Given the description of an element on the screen output the (x, y) to click on. 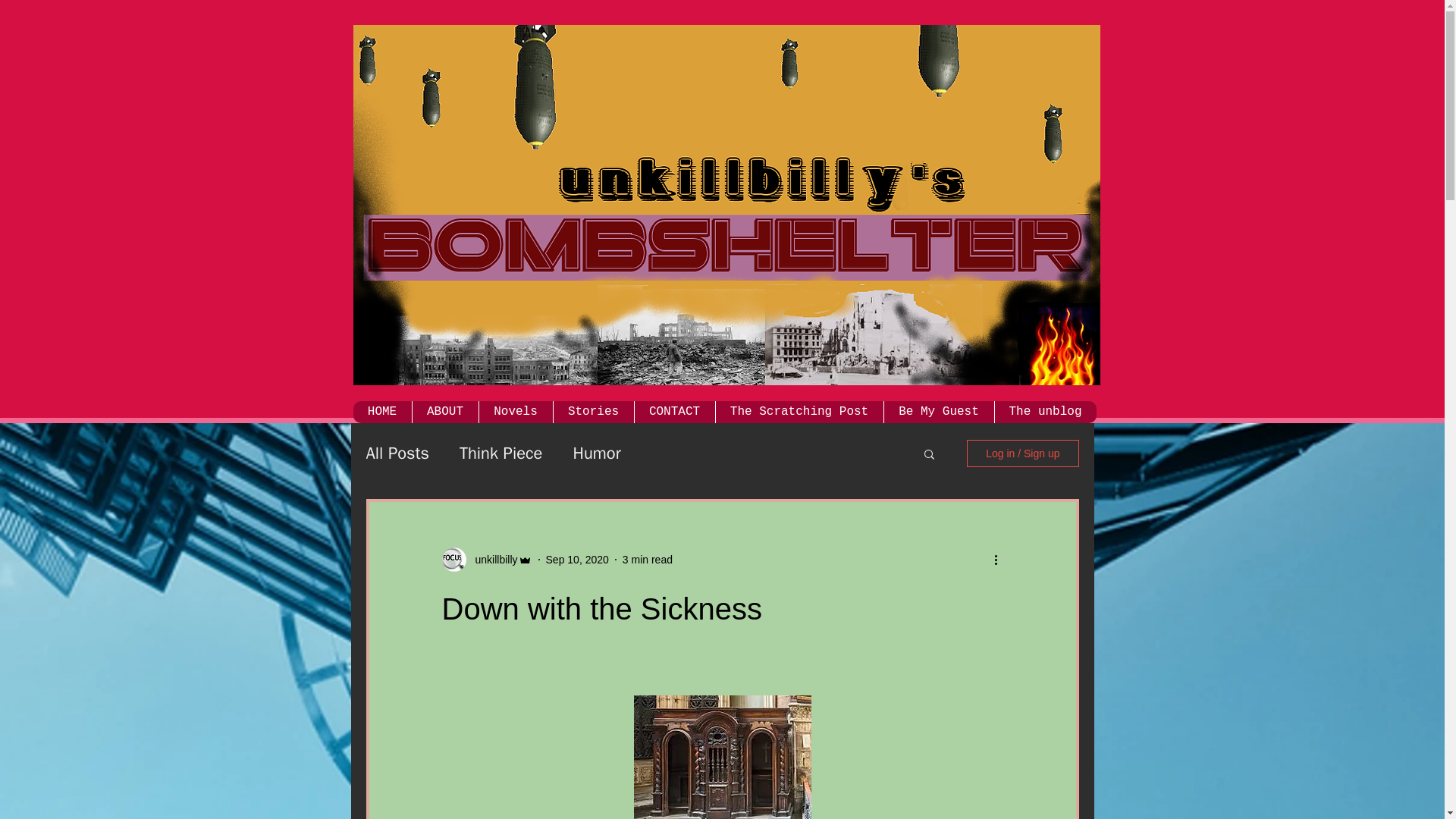
The Scratching Post (798, 412)
Be My Guest (937, 412)
unkillbilly (490, 560)
Humor (596, 453)
Think Piece (500, 453)
The unblog (1044, 412)
CONTACT (673, 412)
All Posts (397, 453)
HOME (382, 412)
ABOUT (443, 412)
Sep 10, 2020 (577, 559)
3 min read (647, 559)
